Given the description of an element on the screen output the (x, y) to click on. 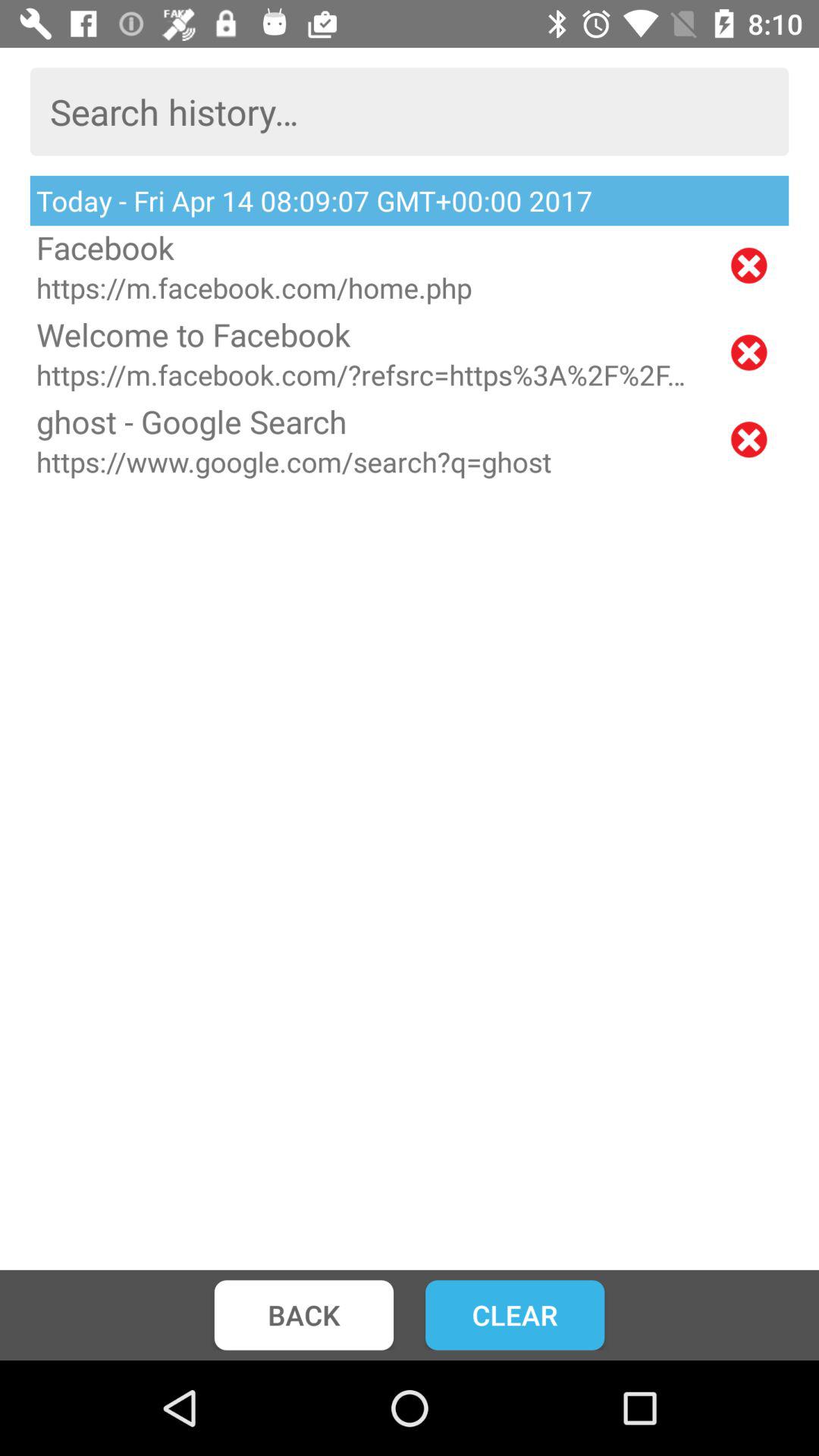
select item next to the back item (514, 1315)
